Given the description of an element on the screen output the (x, y) to click on. 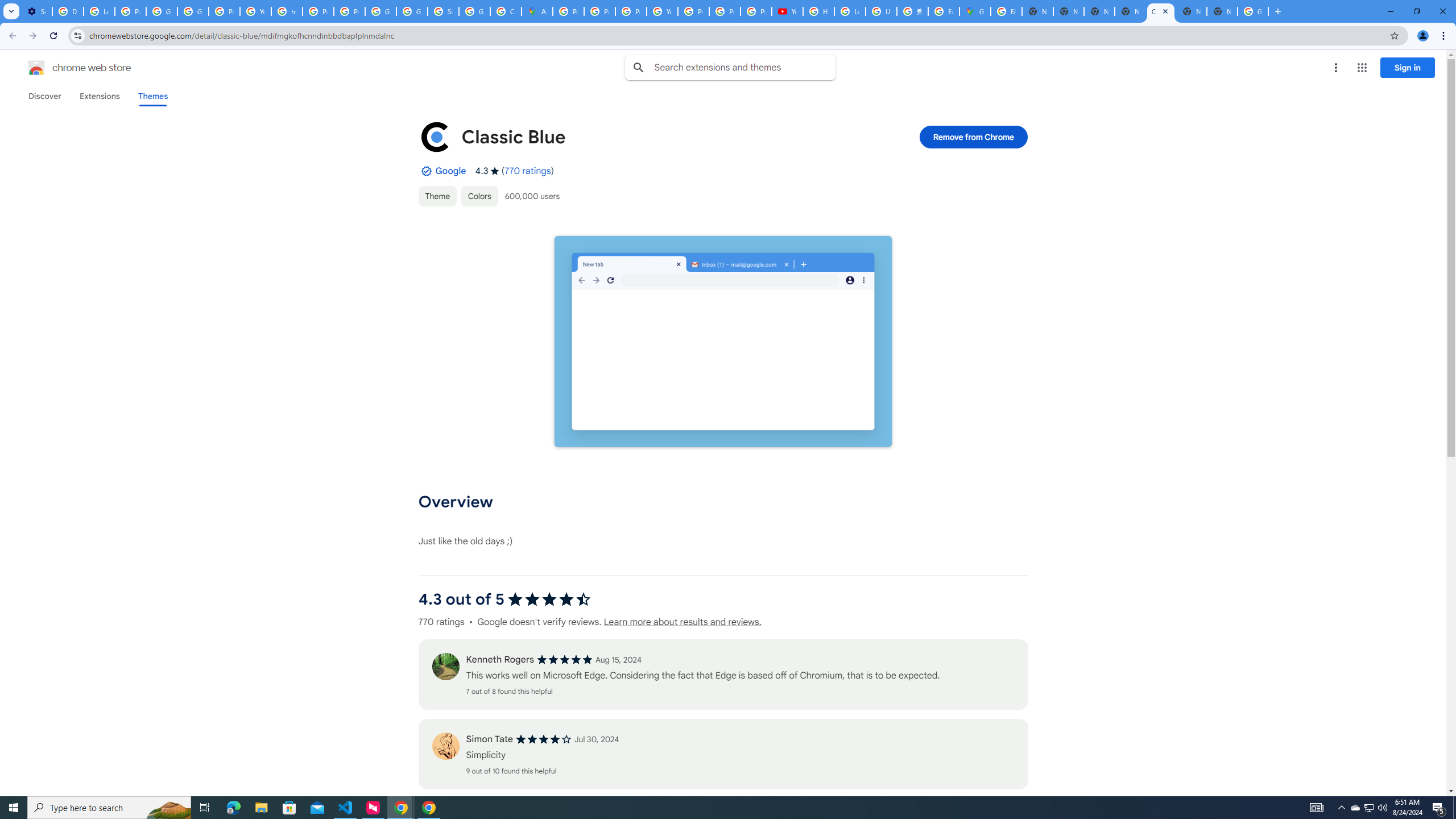
YouTube (662, 11)
Privacy Checkup (756, 11)
Sign in - Google Accounts (443, 11)
By Established Publisher Badge (425, 170)
YouTube (255, 11)
